Given the description of an element on the screen output the (x, y) to click on. 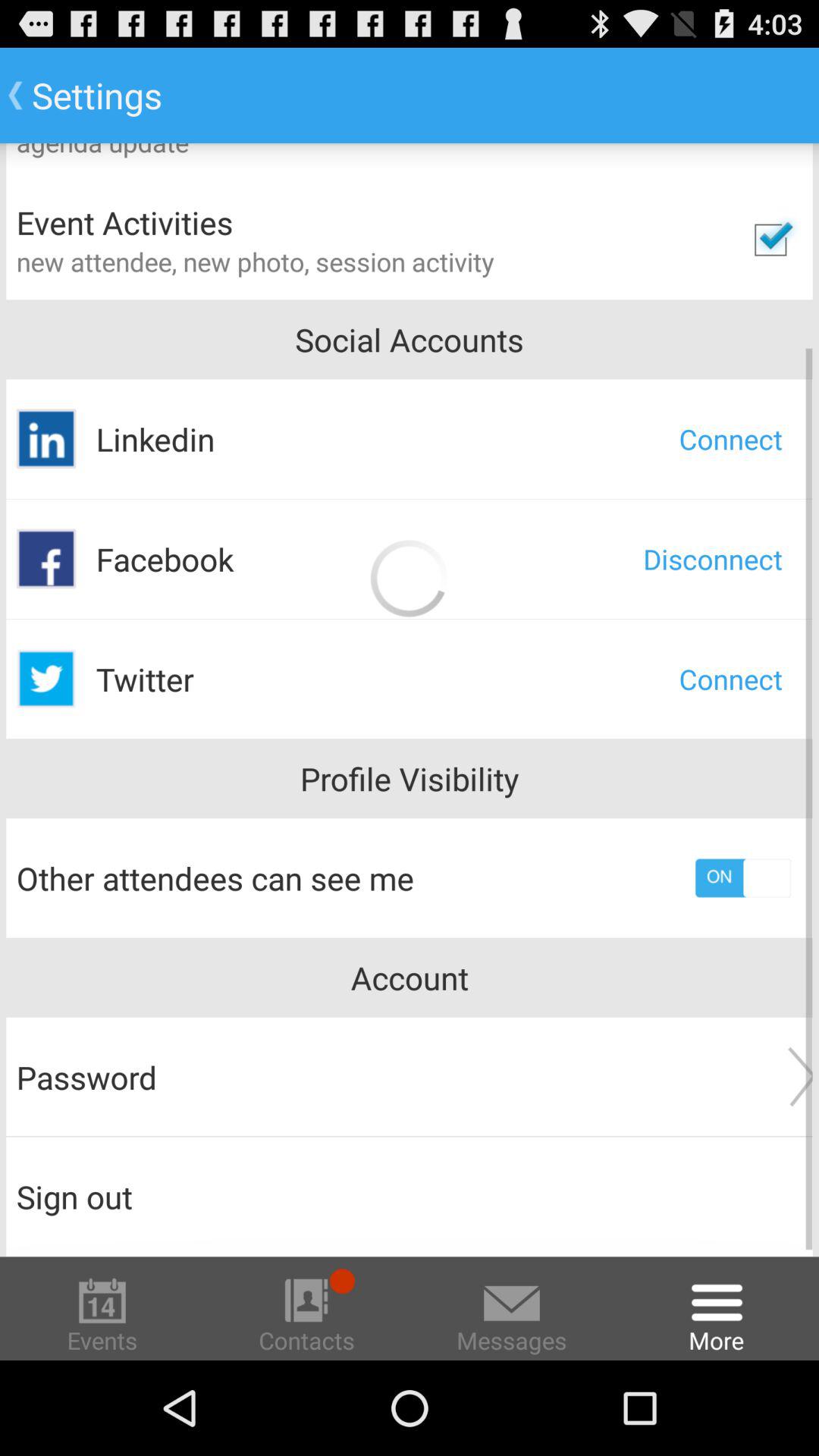
enable event activities (770, 239)
